Given the description of an element on the screen output the (x, y) to click on. 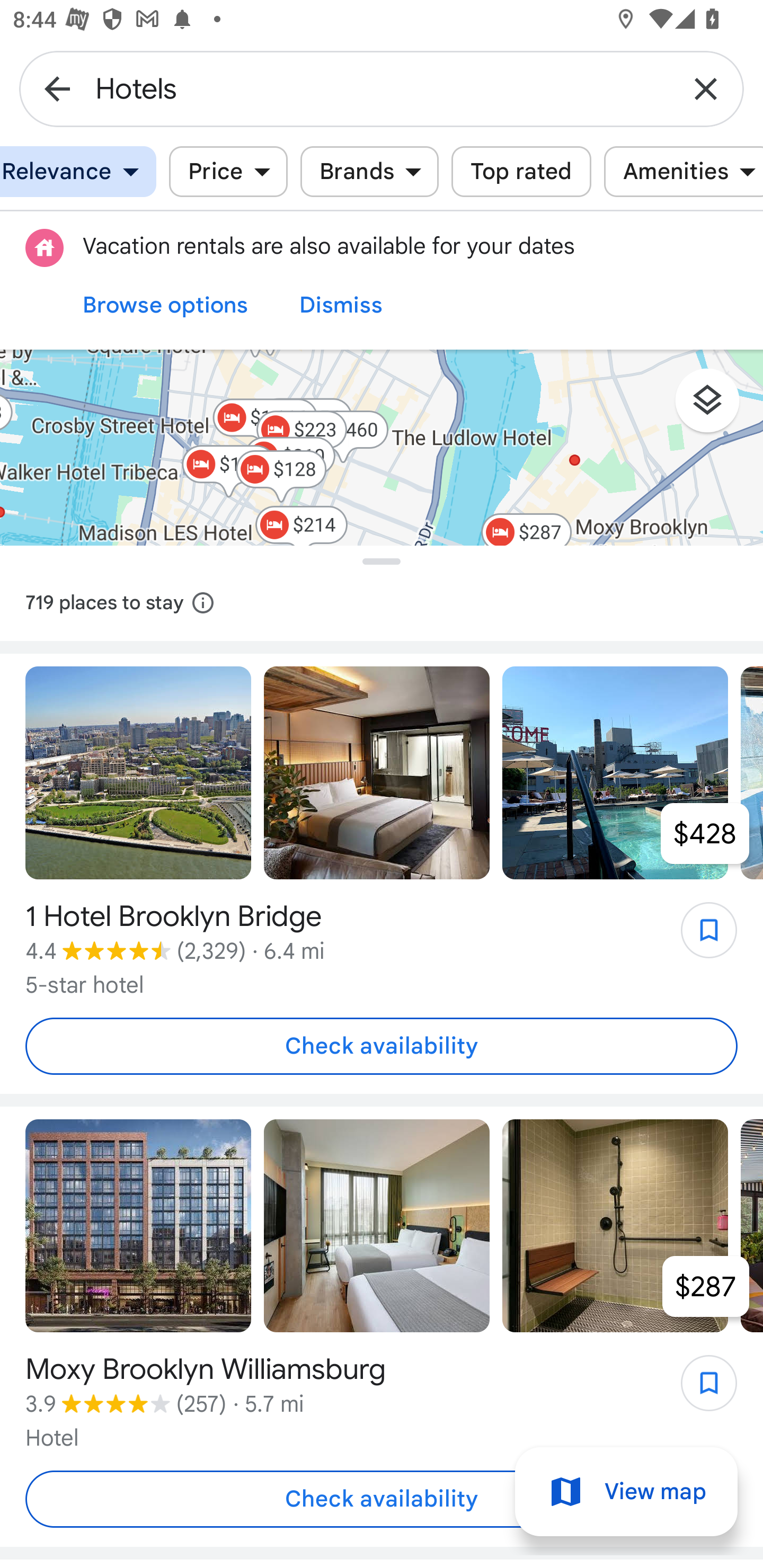
Back (57, 88)
Hotels (381, 88)
Clear (705, 88)
Relevance Relevance Relevance (78, 171)
Price Price Price (228, 171)
Brands Brands Brands (369, 171)
Top rated Top rated Top rated (521, 171)
Amenities Amenities Amenities (683, 171)
Browse options (165, 304)
Dismiss (340, 304)
Layers (716, 406)
719 places to stay (381, 602)
Photo (138, 772)
Photo (376, 772)
Photo (614, 772)
$428 $428 at 1 Hotel Brooklyn Bridge (704, 833)
Save 1 Hotel Brooklyn Bridge to lists (699, 936)
Photo (138, 1225)
Photo (376, 1225)
Photo (614, 1225)
$287 $287 at Moxy Brooklyn Williamsburg (705, 1286)
Save Moxy Brooklyn Williamsburg to lists (699, 1388)
View map Map view (626, 1491)
